Given the description of an element on the screen output the (x, y) to click on. 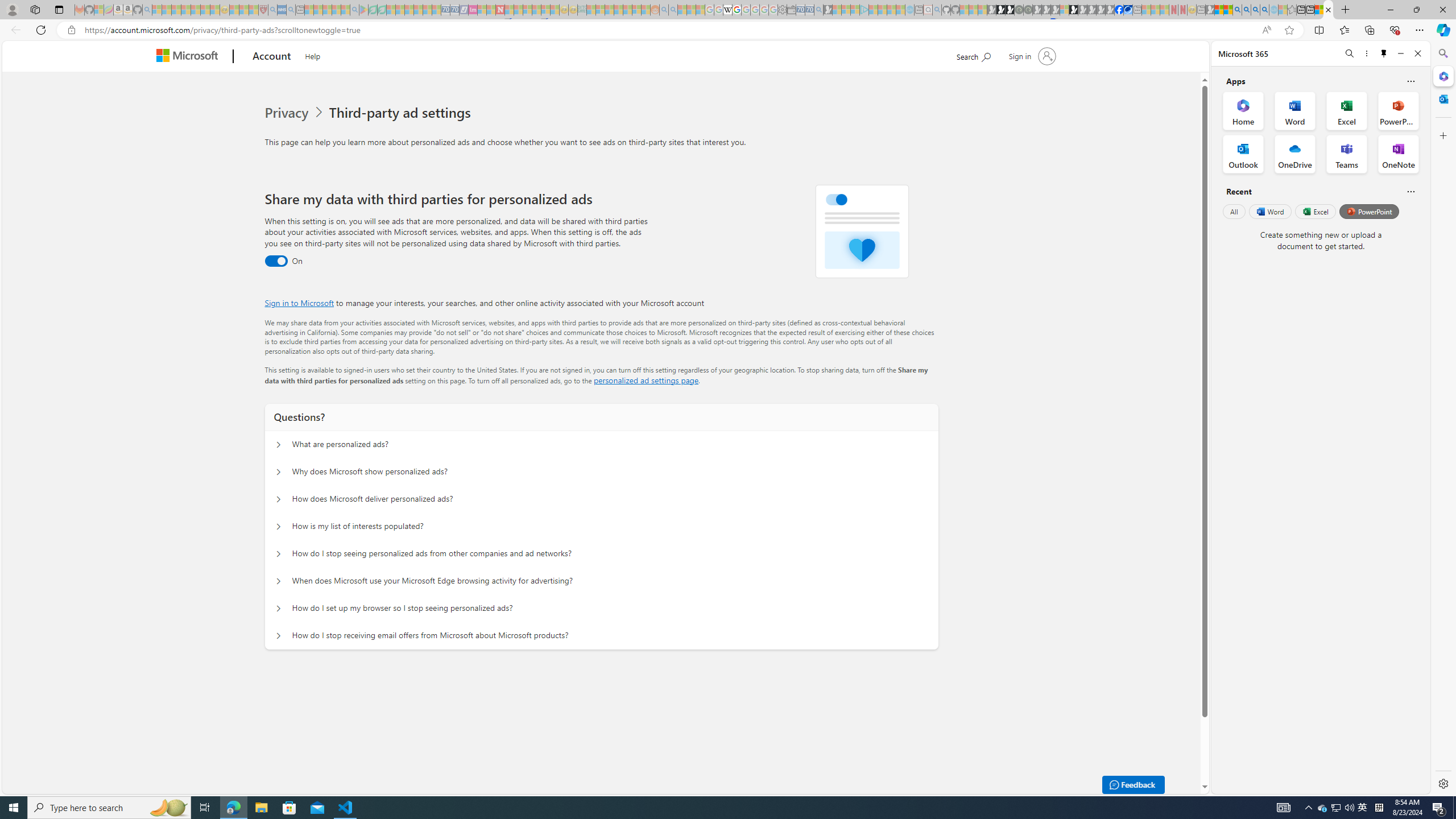
Excel Office App (1346, 110)
Teams Office App (1346, 154)
Nordace | Facebook (1118, 9)
Questions? Why does Microsoft show personalized ads? (278, 472)
Is this helpful? (1410, 191)
